Given the description of an element on the screen output the (x, y) to click on. 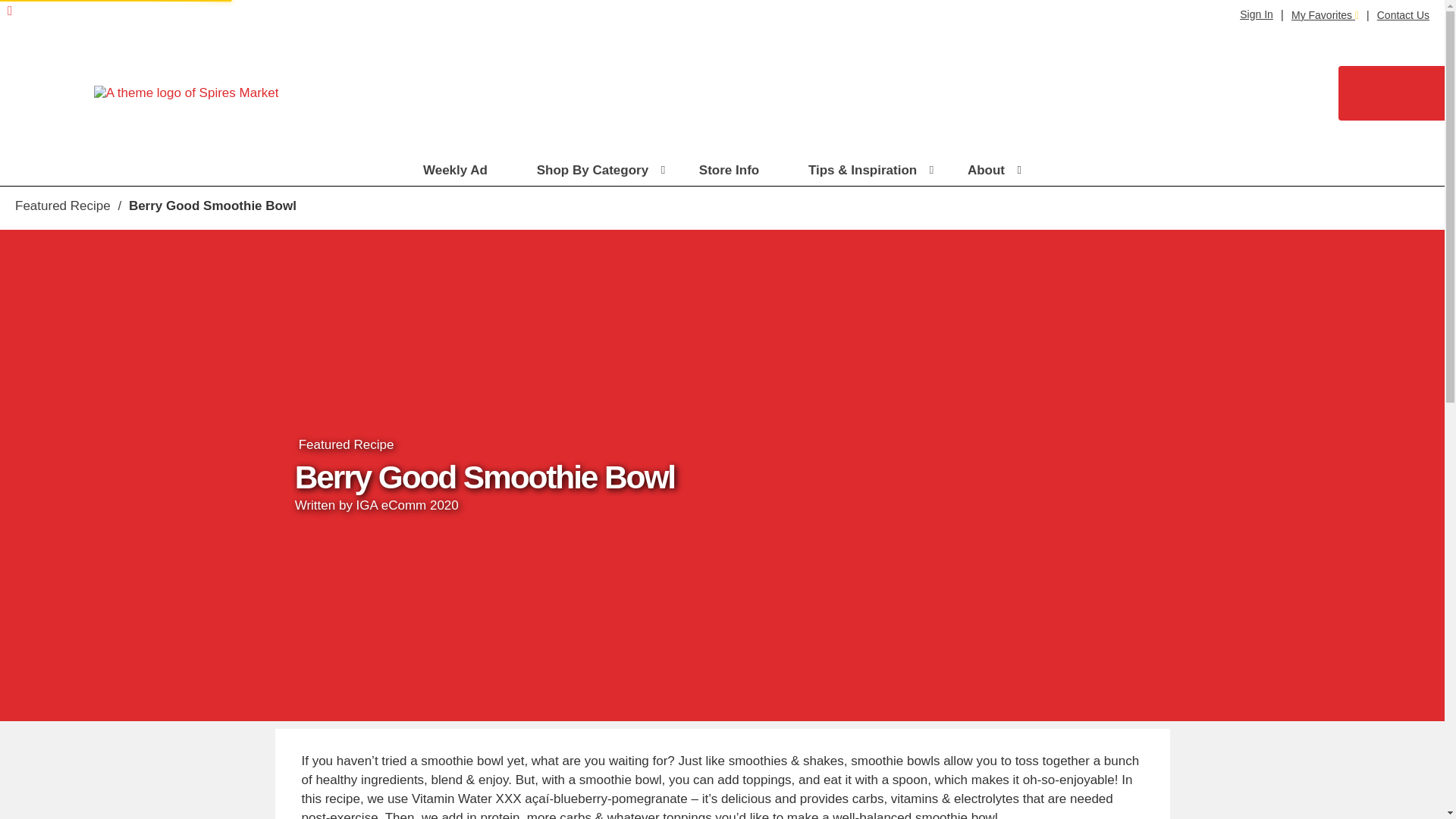
Store Info (736, 170)
My Favorites  (1324, 15)
About (995, 170)
Weekly Ad (462, 170)
Sign In (1256, 14)
Go to the Featured Recipe Category archives. (62, 205)
Featured Recipe (346, 444)
Shop By Category (601, 170)
Featured Recipe (62, 205)
Contact Us (1403, 15)
